Given the description of an element on the screen output the (x, y) to click on. 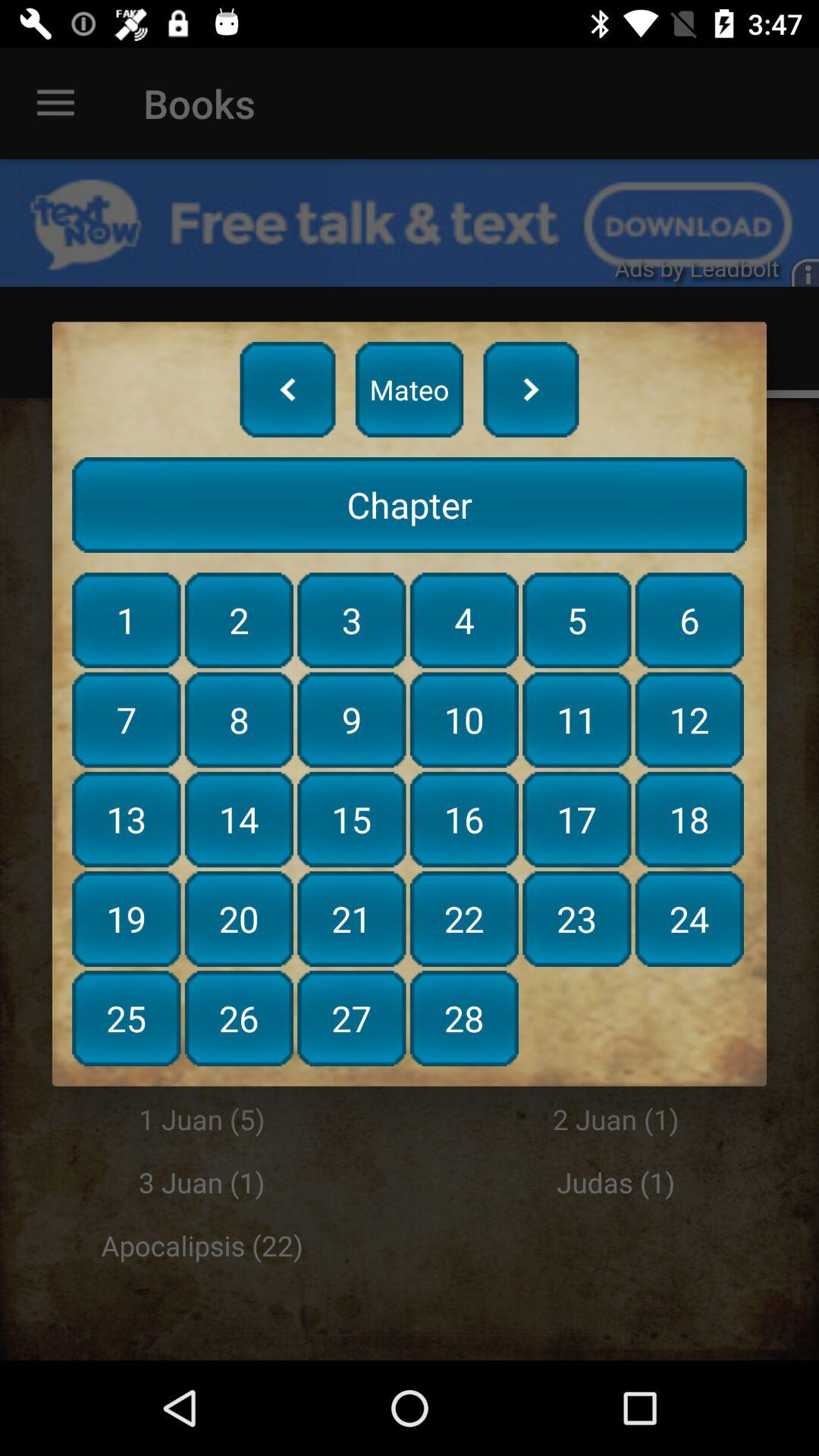
press the item above chapter item (530, 389)
